Given the description of an element on the screen output the (x, y) to click on. 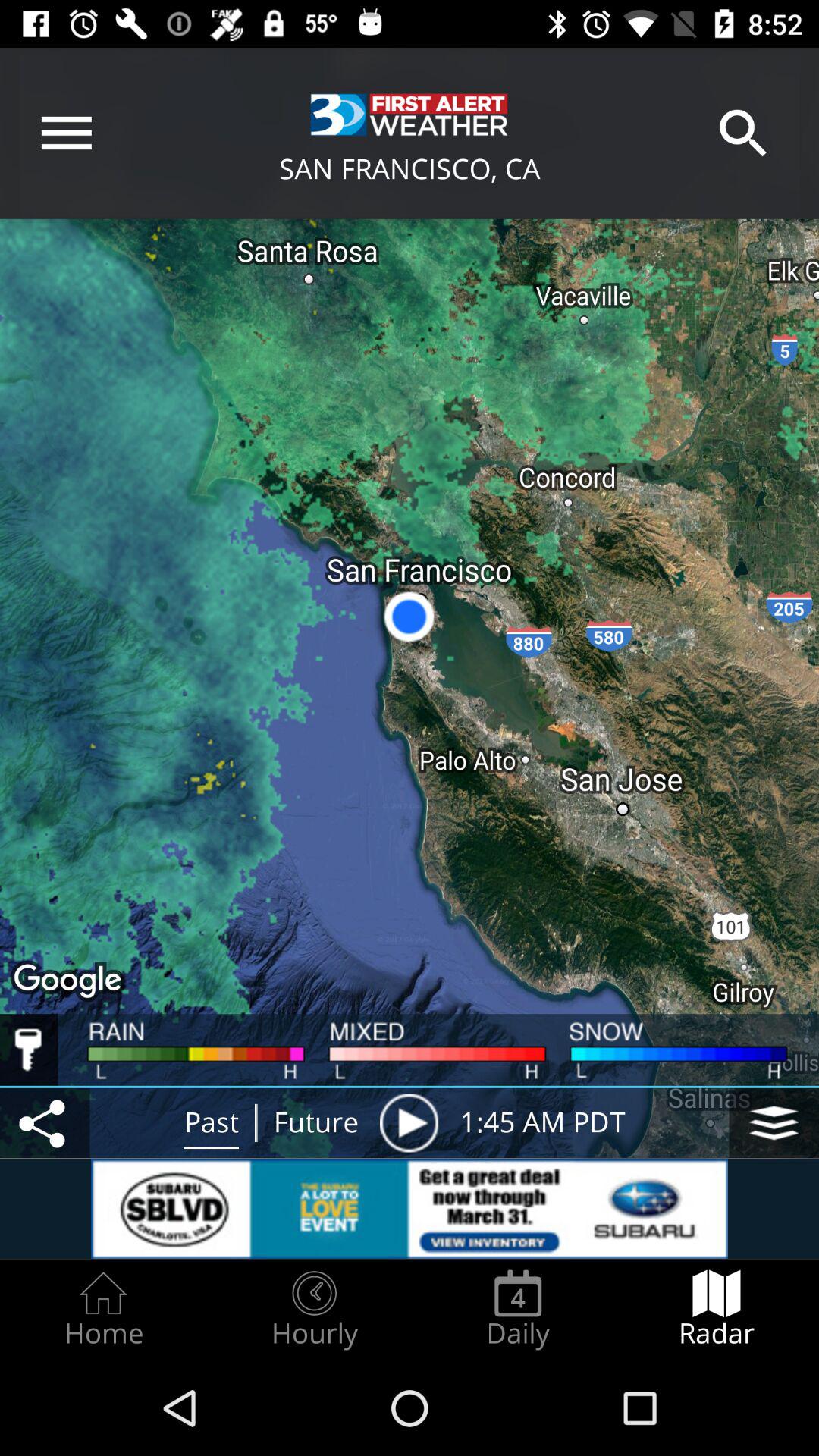
key symbol (29, 1049)
